Given the description of an element on the screen output the (x, y) to click on. 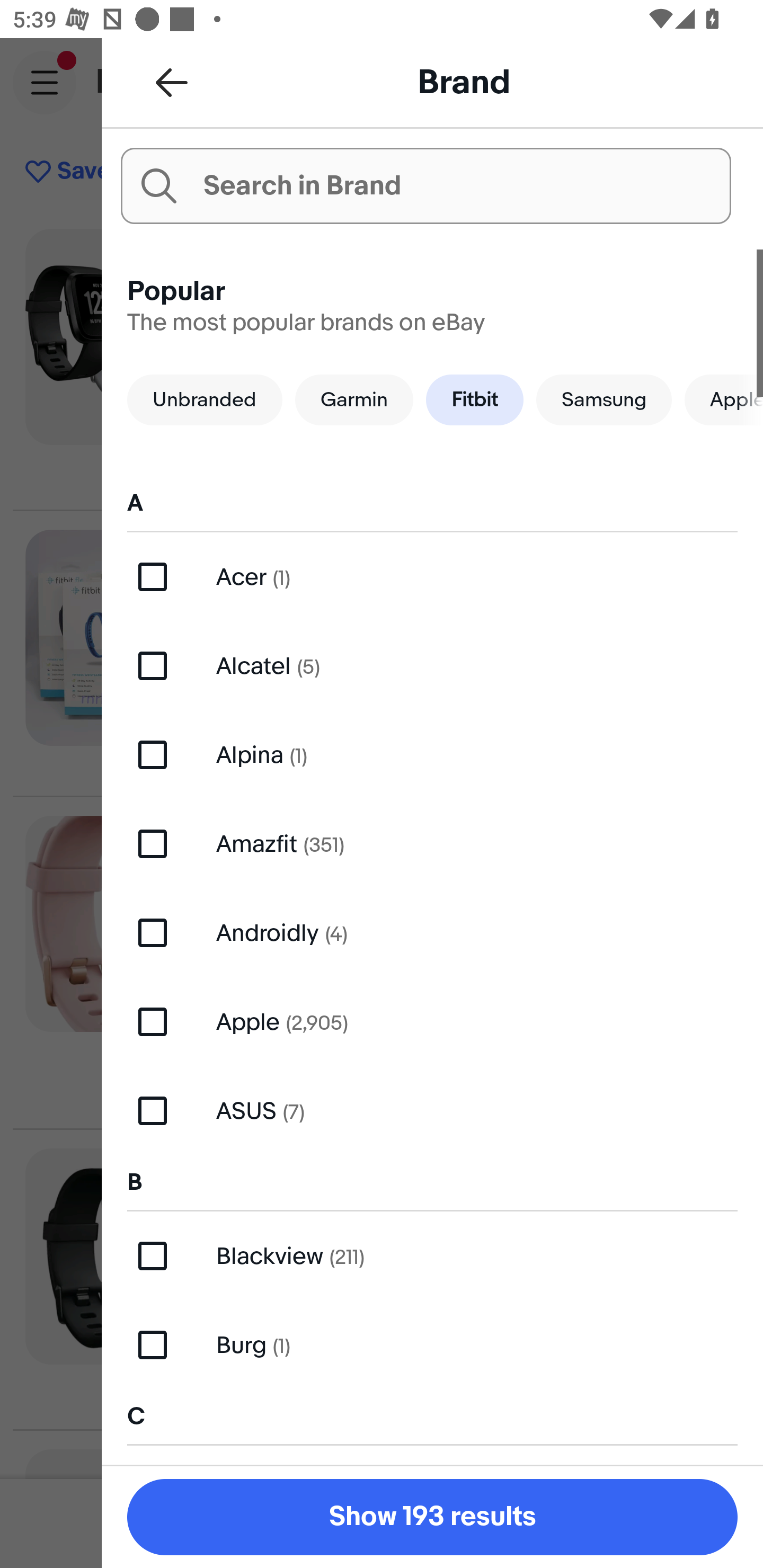
Back to all refinements (171, 81)
Search in Brand (425, 185)
Unbranded (204, 399)
Garmin (354, 399)
Fitbit (474, 399)
Samsung (604, 399)
Apple (723, 399)
Acer (1) (432, 576)
Alcatel (5) (432, 665)
Alpina (1) (432, 754)
Amazfit (351) (432, 844)
Androidly (4) (432, 932)
Apple (2,905) (432, 1021)
ASUS (7) (432, 1110)
Blackview (211) (432, 1255)
Burg (1) (432, 1344)
Show 193 results (432, 1516)
